Given the description of an element on the screen output the (x, y) to click on. 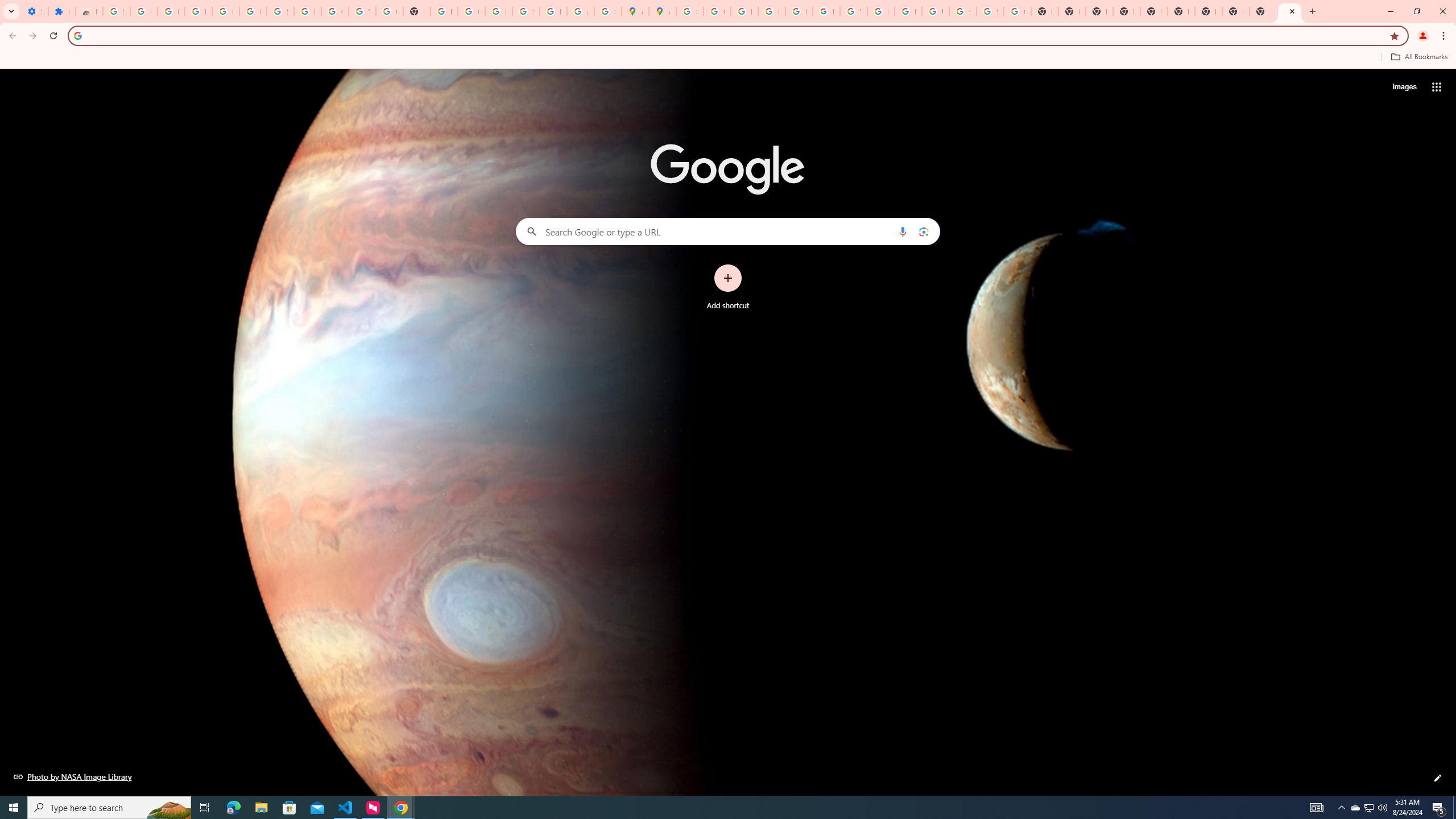
Privacy Help Center - Policies Help (743, 11)
Customize this page (1437, 778)
Google Images (1017, 11)
Reviews: Helix Fruit Jump Arcade Game (88, 11)
